Given the description of an element on the screen output the (x, y) to click on. 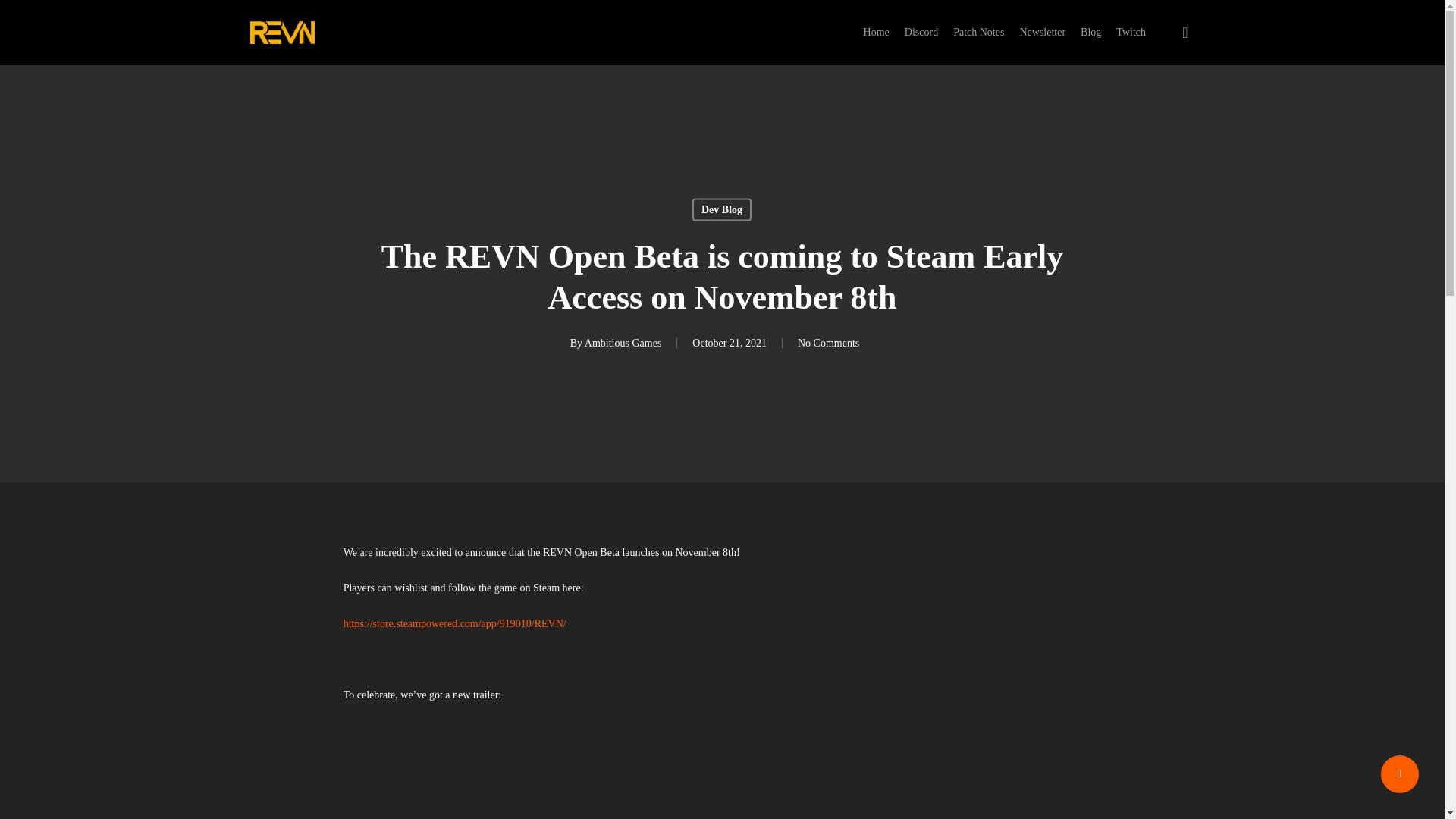
No Comments (828, 342)
search (1184, 32)
Posts by Ambitious Games (623, 342)
Twitch (1130, 32)
Patch Notes (978, 32)
Newsletter (1042, 32)
REVN Beta Trailer (722, 770)
Ambitious Games (623, 342)
Dev Blog (722, 210)
Blog (1090, 32)
Home (876, 32)
Discord (920, 32)
